Given the description of an element on the screen output the (x, y) to click on. 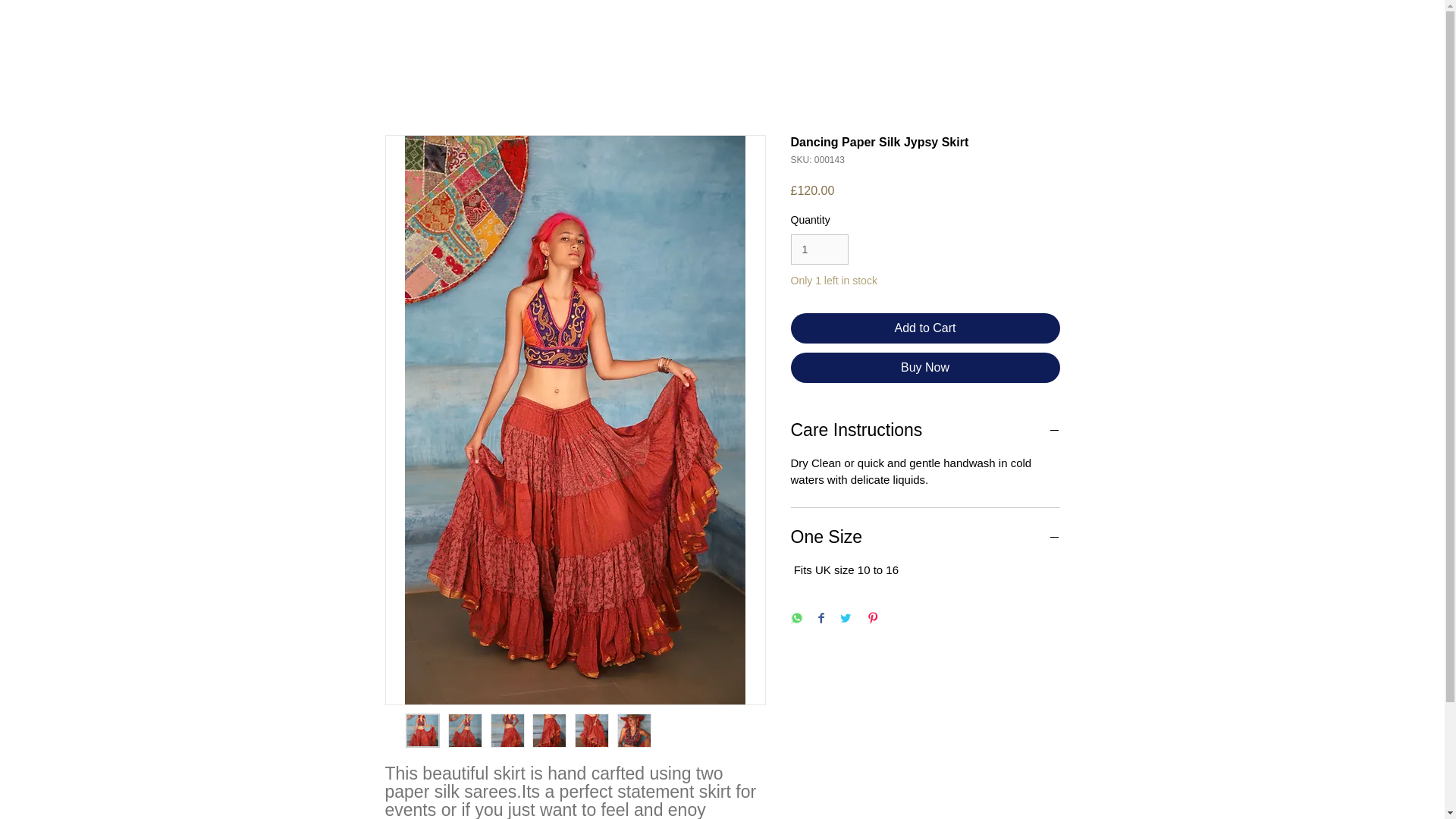
1 (818, 249)
